Given the description of an element on the screen output the (x, y) to click on. 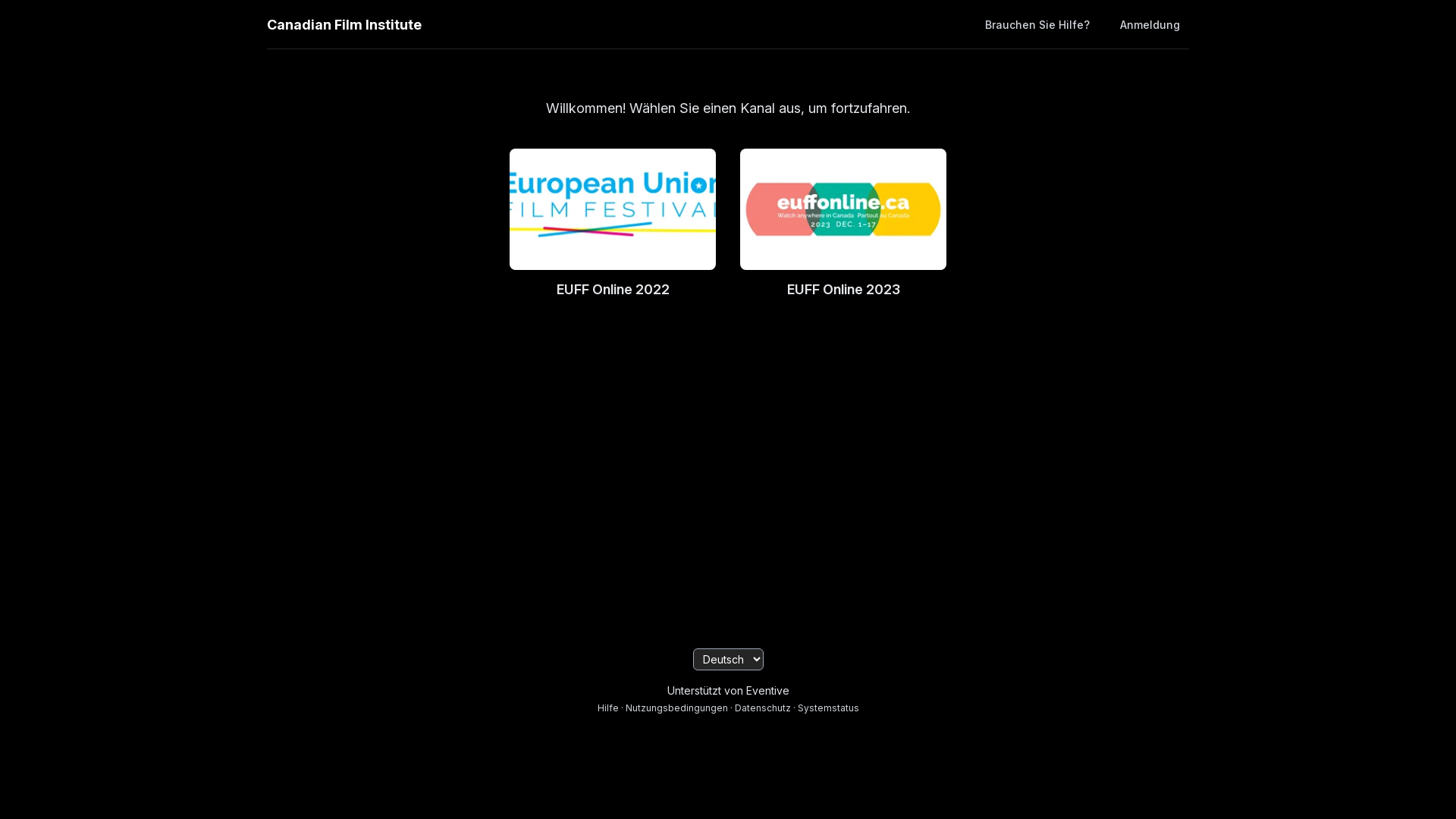
Canadian Film Institute Element type: text (343, 24)
Brauchen Sie Hilfe? Element type: text (1036, 24)
EUFF Online 2023 Element type: text (843, 223)
EUFF Online 2022 Element type: text (612, 223)
Anmeldung Element type: text (1149, 24)
Hilfe Element type: text (607, 707)
Nutzungsbedingungen Element type: text (675, 707)
Systemstatus Element type: text (828, 707)
Datenschutz Element type: text (762, 707)
